Given the description of an element on the screen output the (x, y) to click on. 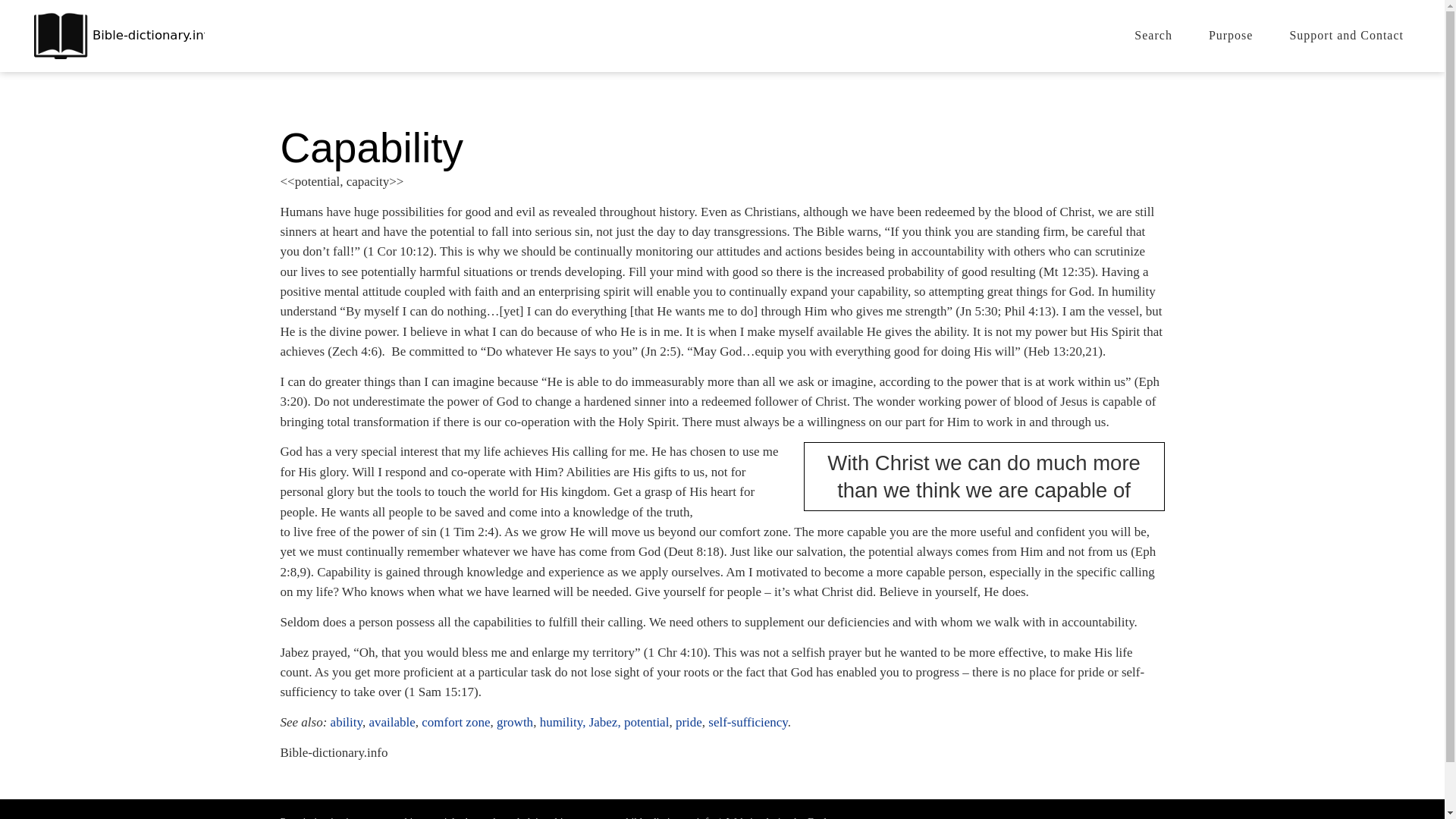
ability (346, 721)
Purpose (1231, 35)
self-sufficiency (747, 721)
pride (688, 721)
Fuel (817, 817)
humility, (563, 721)
Support and Contact (1346, 35)
comfort zone (455, 721)
potential (645, 721)
Search (1153, 35)
